Given the description of an element on the screen output the (x, y) to click on. 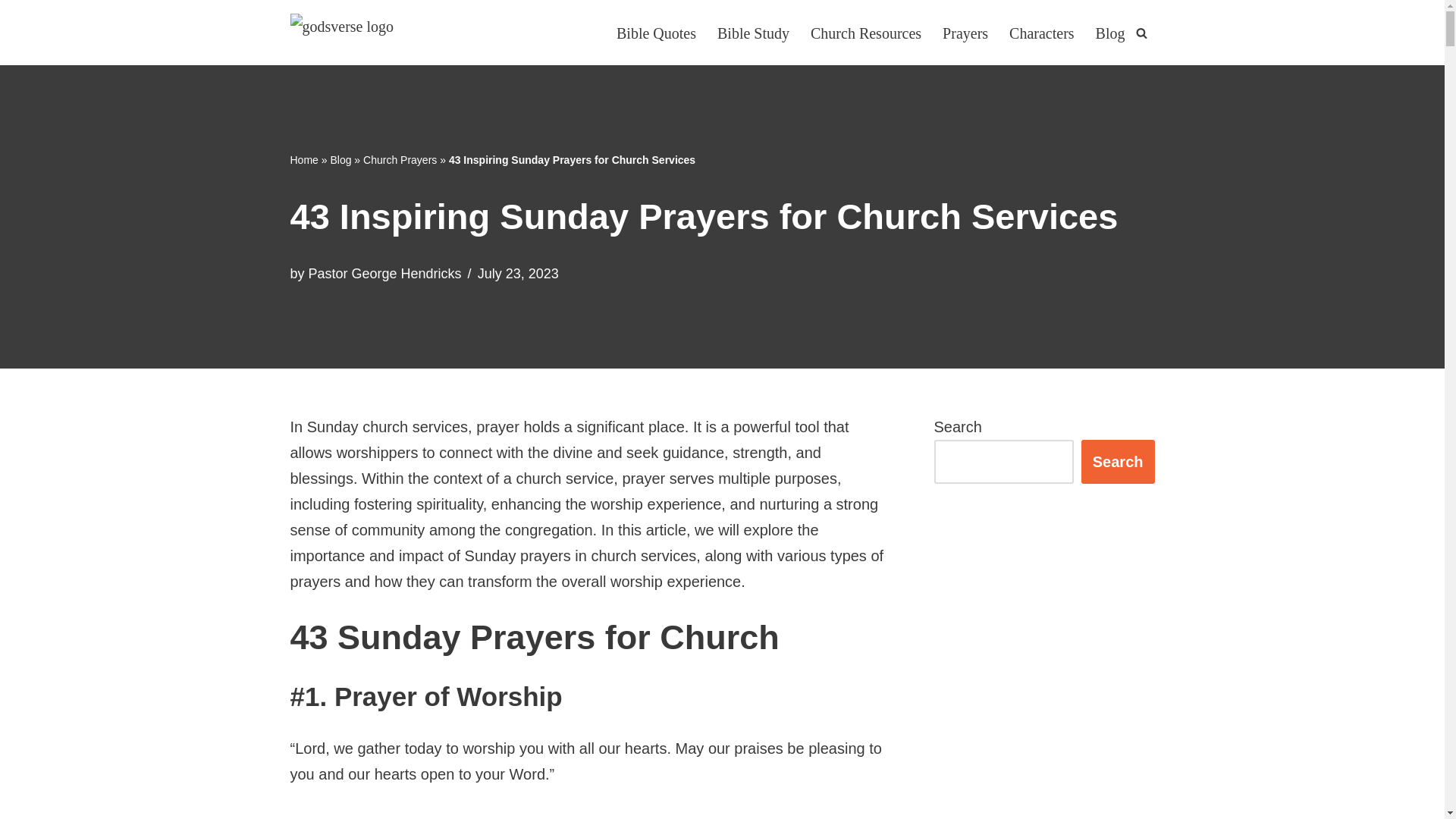
Characters (1041, 32)
Posts by Pastor George Hendricks (384, 273)
Bible Study (753, 32)
Pastor George Hendricks (384, 273)
Church Prayers (399, 159)
Search (1117, 461)
Prayers (965, 32)
Skip to content (11, 31)
Church Resources (865, 32)
Blog (340, 159)
